Given the description of an element on the screen output the (x, y) to click on. 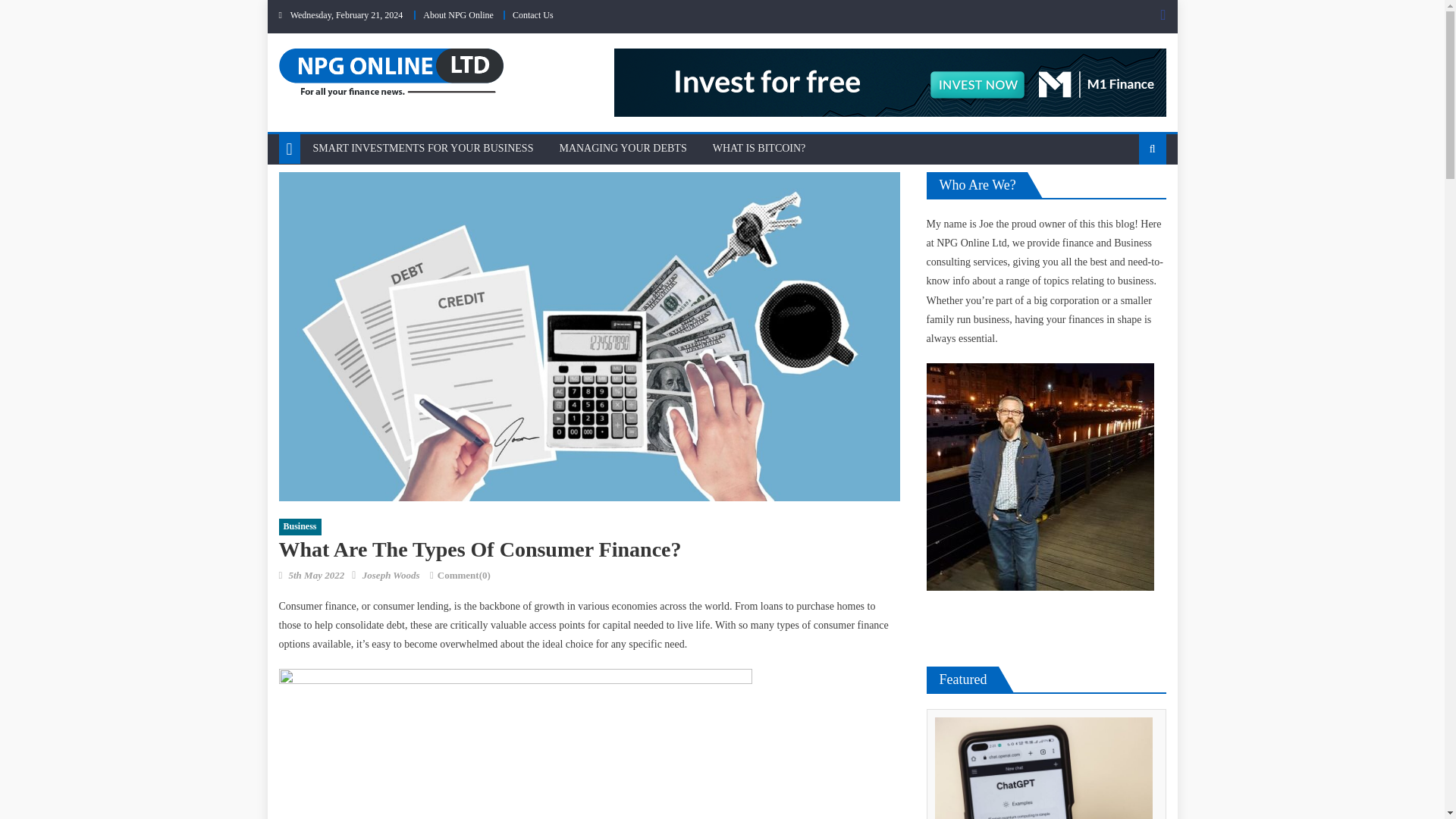
Harnessing Technology for Enhanced Profitability (1042, 768)
Skip to content (298, 9)
SMART INVESTMENTS FOR YOUR BUSINESS (422, 148)
Business (300, 526)
About NPG Online (458, 14)
5th May 2022 (315, 574)
MANAGING YOUR DEBTS (622, 148)
Joseph Woods (391, 574)
WHAT IS BITCOIN? (758, 148)
Contact Us (532, 14)
Search (1128, 197)
